Given the description of an element on the screen output the (x, y) to click on. 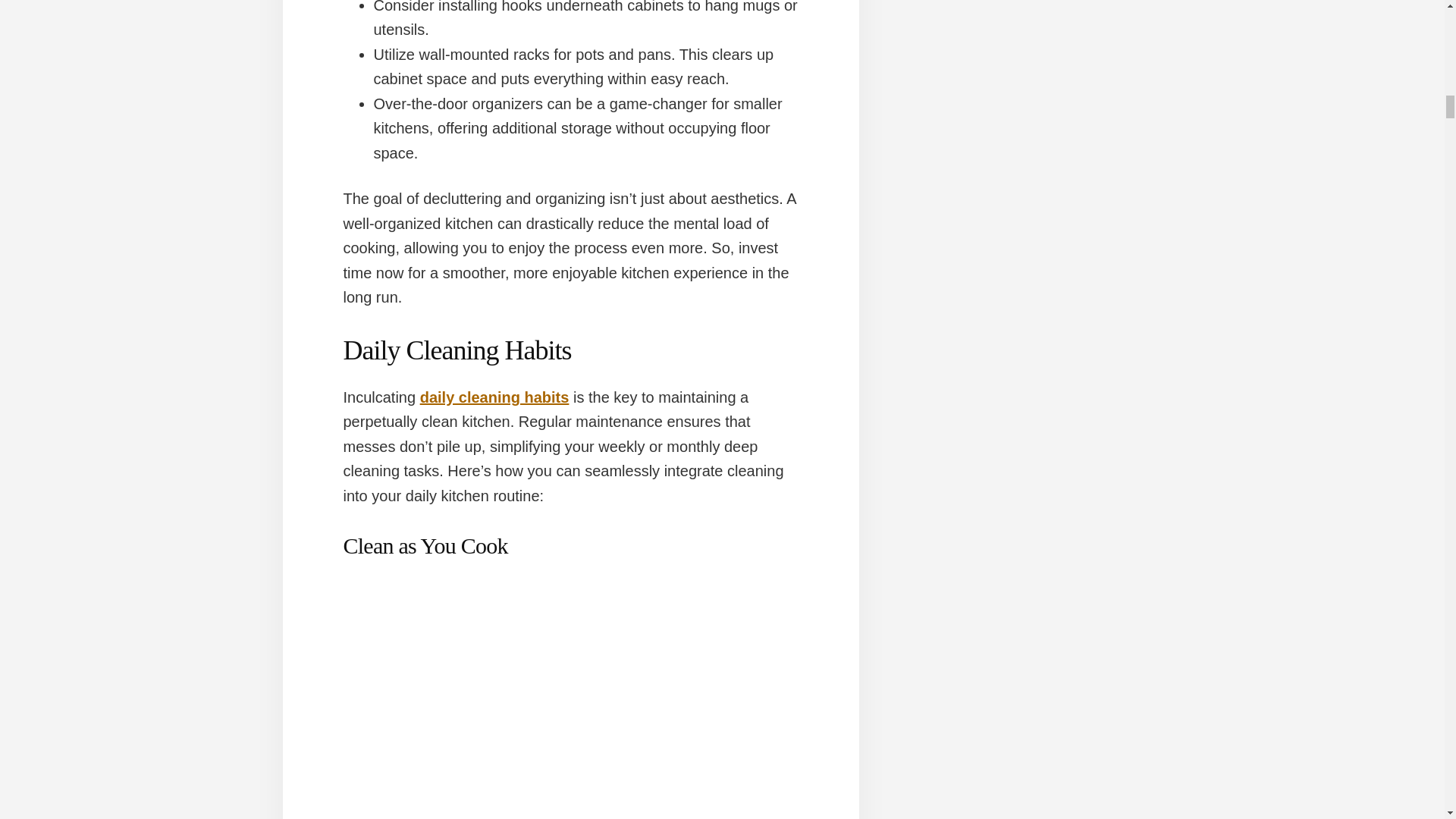
daily cleaning habits (494, 397)
